Given the description of an element on the screen output the (x, y) to click on. 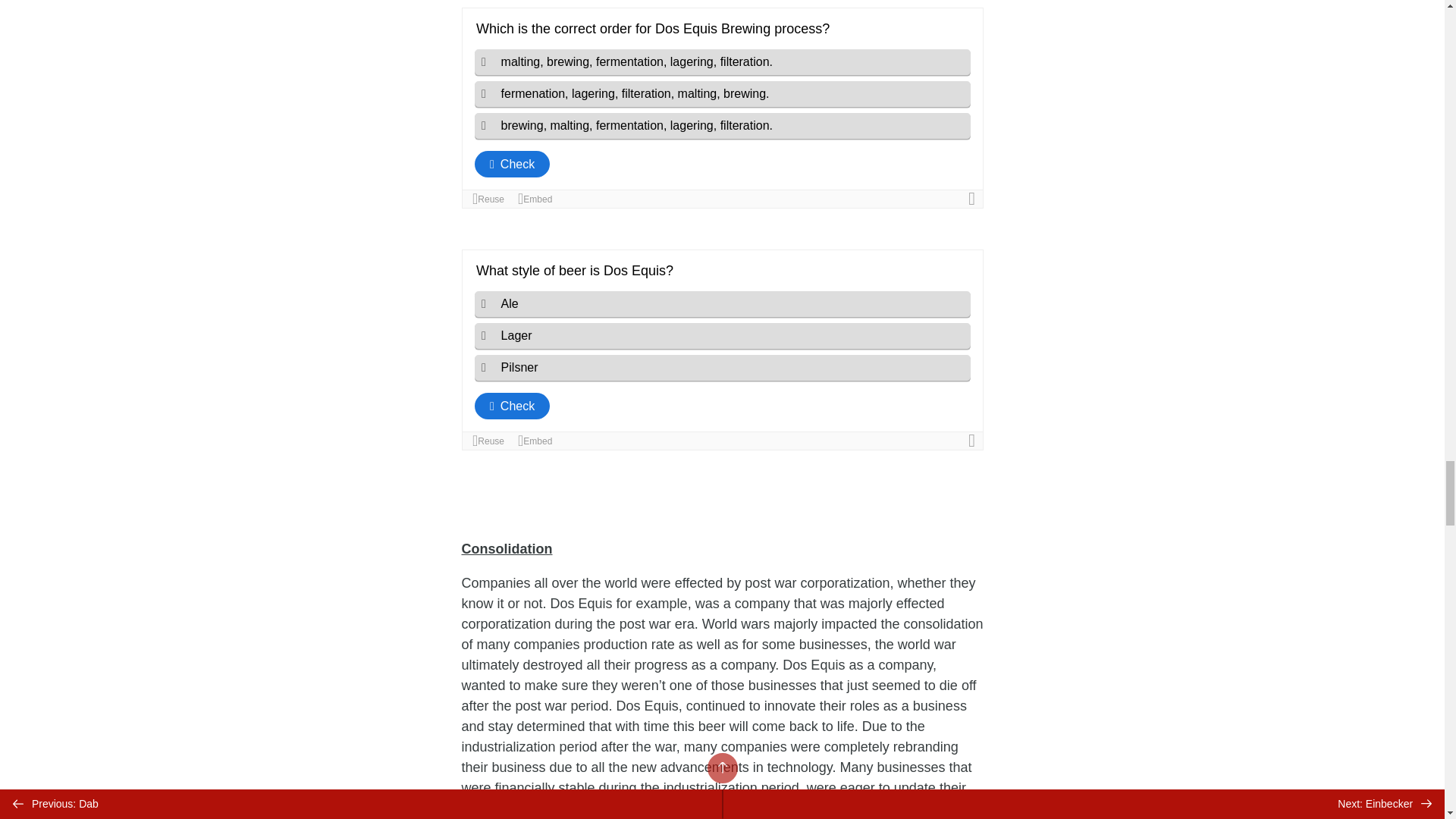
Knowledge Check (721, 107)
Knowledge Check (721, 349)
